Given the description of an element on the screen output the (x, y) to click on. 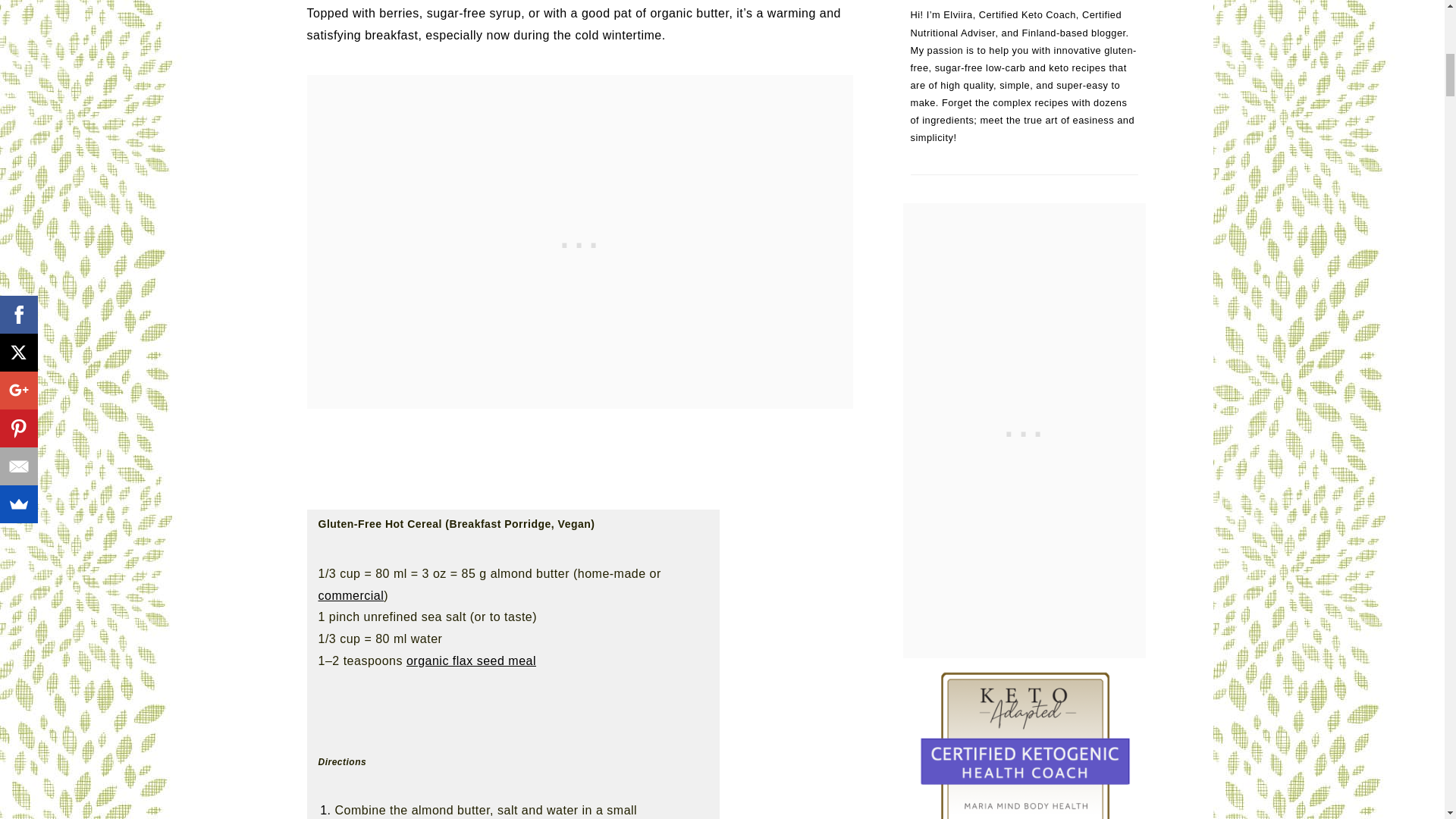
organic flax seed meal (470, 660)
Justin's Almond Butter (351, 594)
Flax Seed Meal (470, 660)
commercial (351, 594)
